Given the description of an element on the screen output the (x, y) to click on. 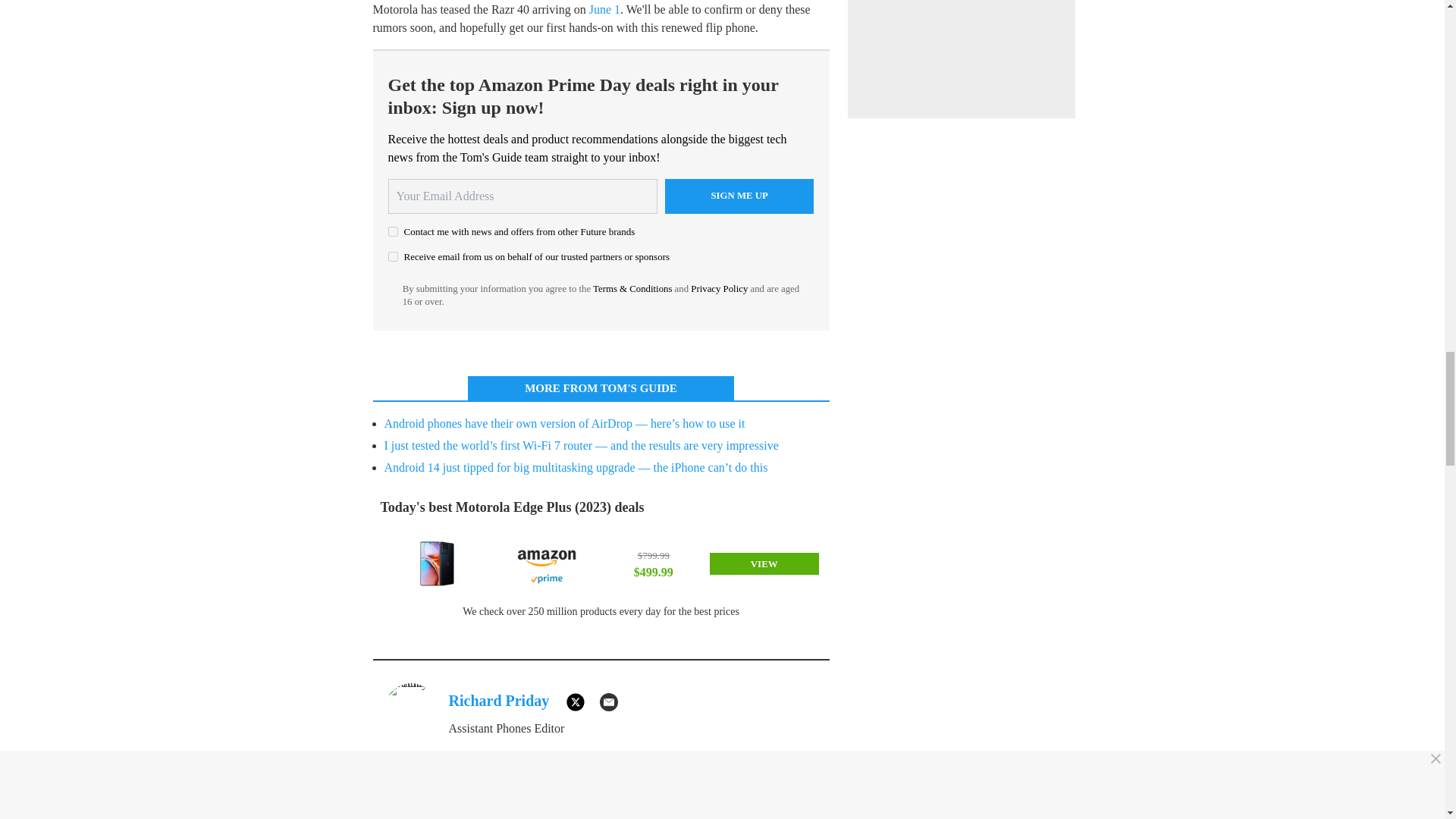
on (392, 256)
on (392, 231)
Prime (546, 578)
Sign me up (739, 196)
Amazon (546, 555)
